Given the description of an element on the screen output the (x, y) to click on. 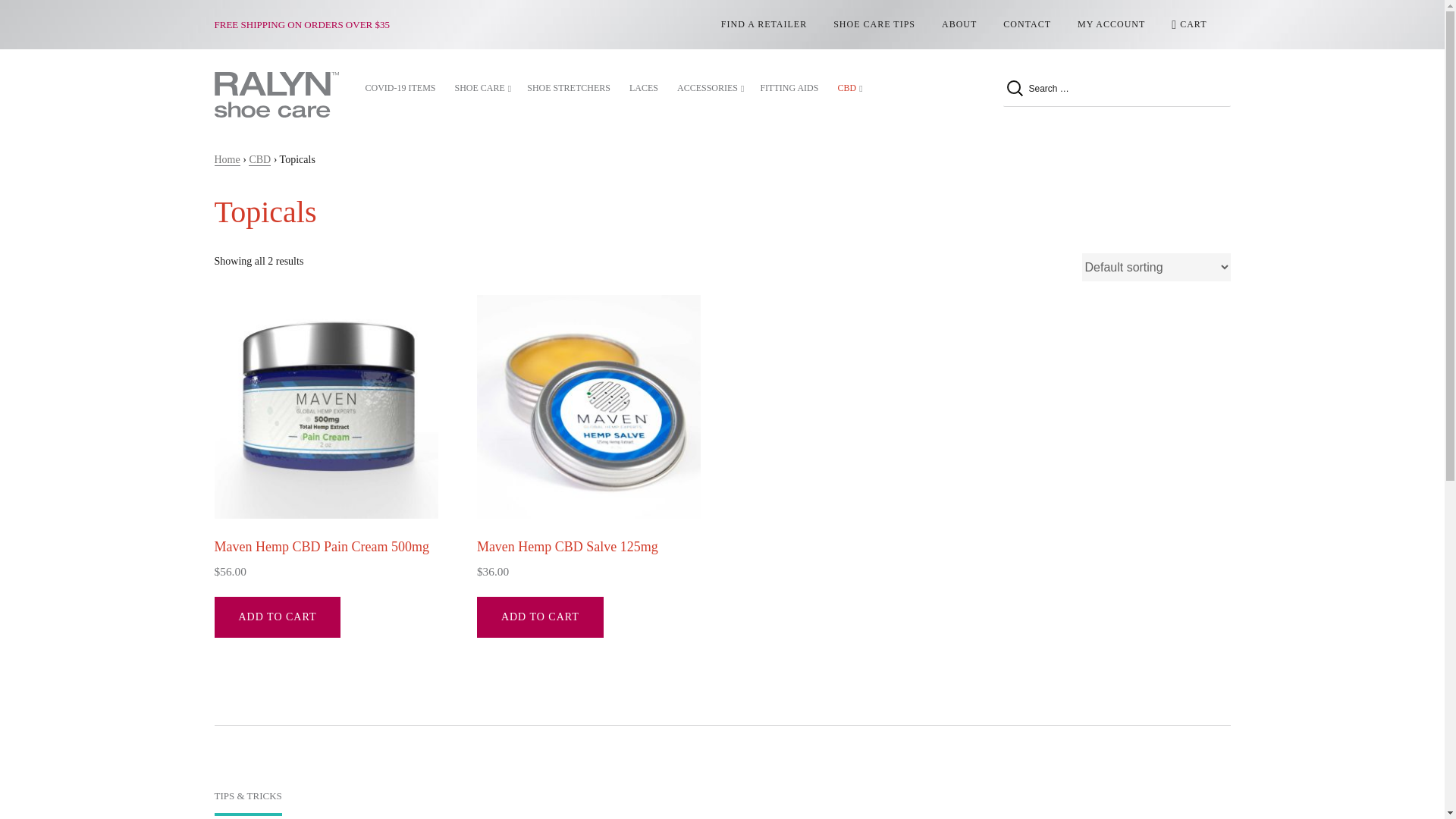
Home (227, 159)
CBD (259, 159)
ABOUT (959, 24)
SHOE CARE TIPS (874, 24)
FIND A RETAILER (764, 24)
ADD TO CART (540, 617)
CONTACT (1026, 24)
MY ACCOUNT (1110, 24)
SHOE CARE (481, 88)
